Given the description of an element on the screen output the (x, y) to click on. 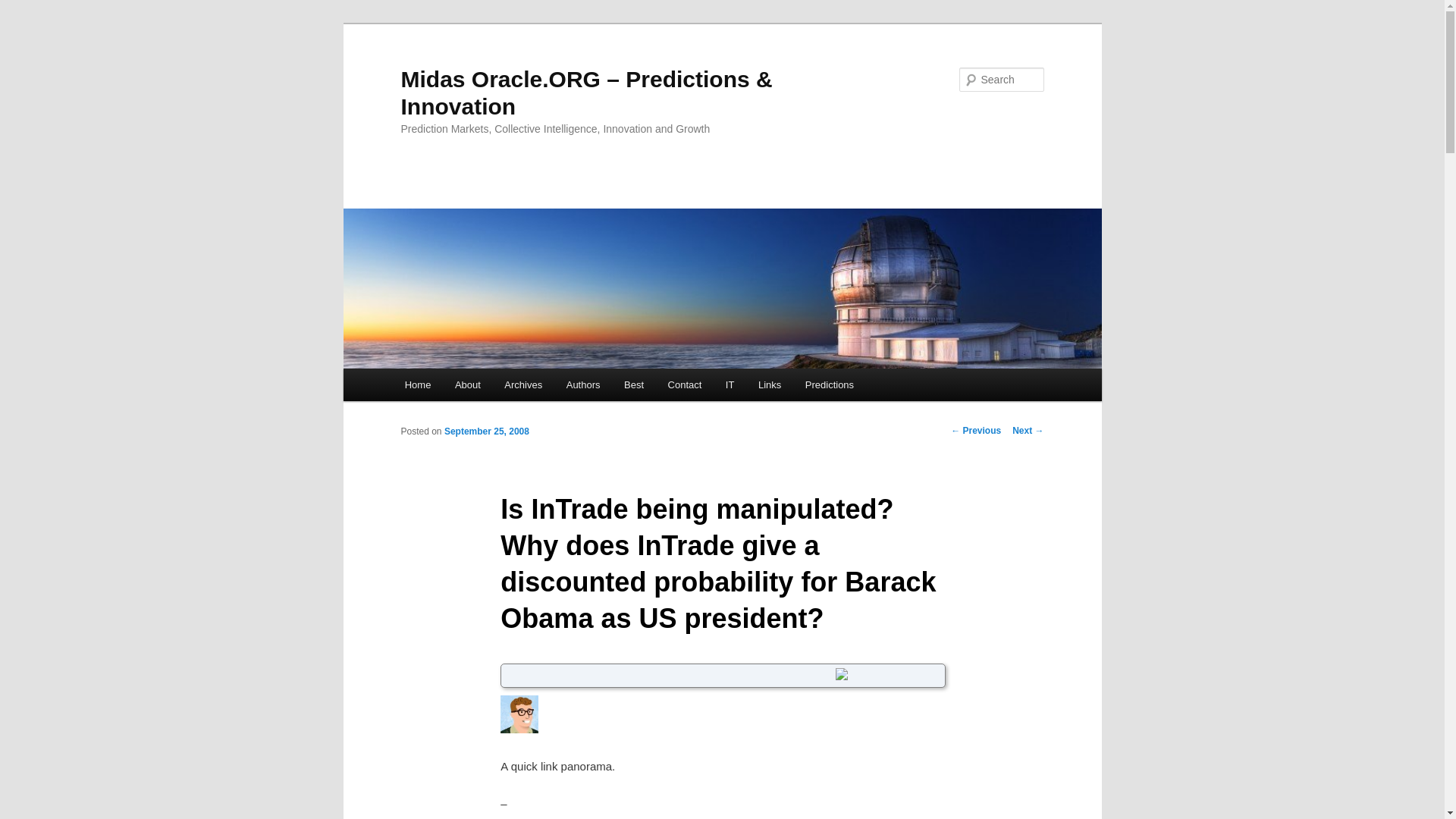
Links (769, 384)
IT (729, 384)
Home (417, 384)
Skip to secondary content (479, 387)
Predictions (829, 384)
Contact (684, 384)
Skip to primary content (472, 387)
Skip to secondary content (479, 387)
Search (24, 8)
Skip to primary content (472, 387)
